Given the description of an element on the screen output the (x, y) to click on. 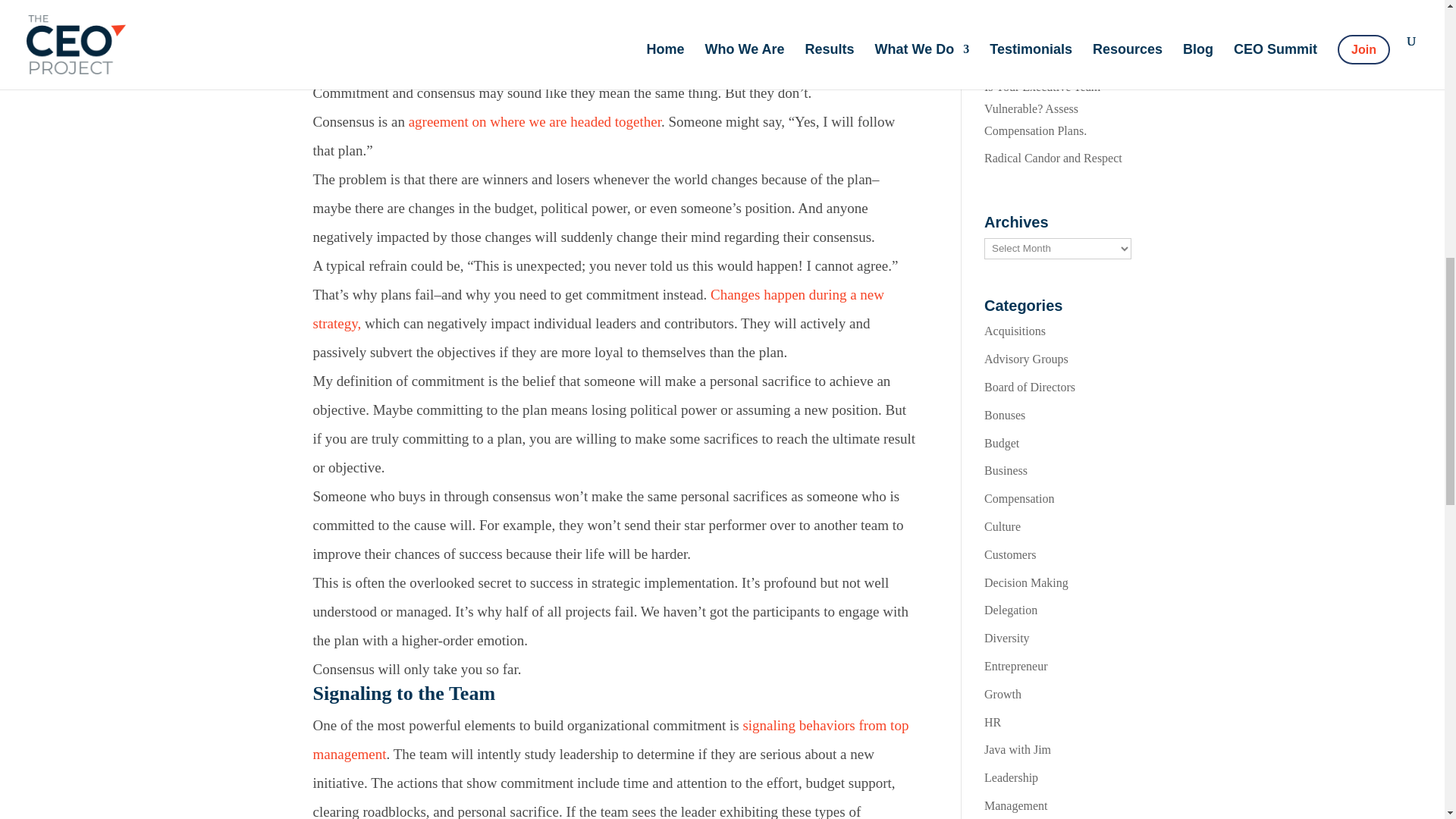
Budget (1001, 442)
Bonuses (1004, 414)
Changes happen during a new strategy, (598, 308)
Acquisitions (1014, 330)
Board of Directors (1029, 386)
How to Build a Better Business Model (1037, 47)
signaling behaviors from top management (610, 739)
Radical Candor and Respect (1053, 157)
agreement on where we are headed together (535, 121)
commit to the plan (754, 7)
